Given the description of an element on the screen output the (x, y) to click on. 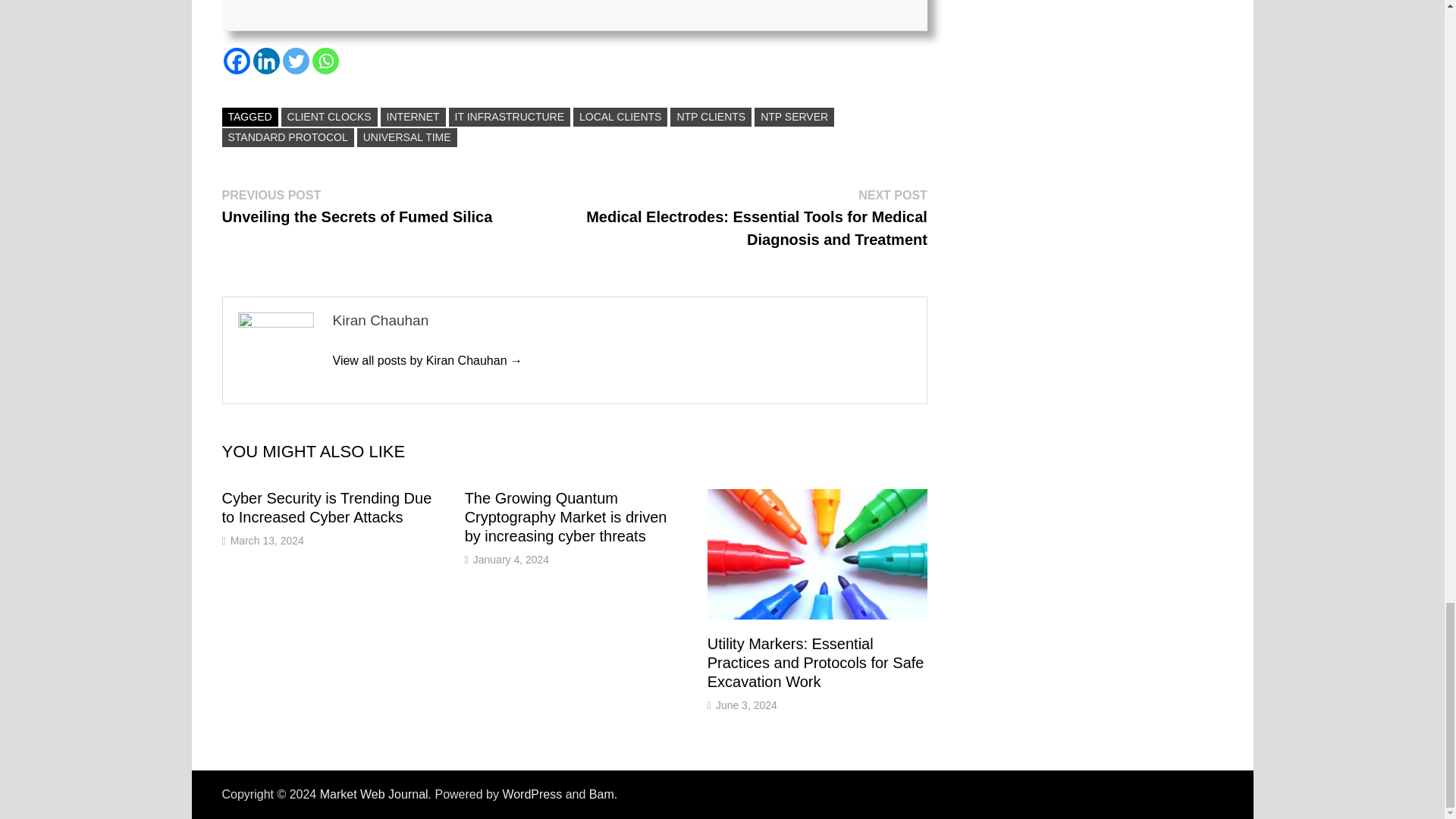
Kiran Chauhan (426, 359)
Facebook (235, 60)
Cyber Security is Trending Due to Increased Cyber Attacks (325, 507)
Whatsapp (326, 60)
Market Web Journal (374, 793)
Linkedin (266, 60)
Twitter (295, 60)
